Given the description of an element on the screen output the (x, y) to click on. 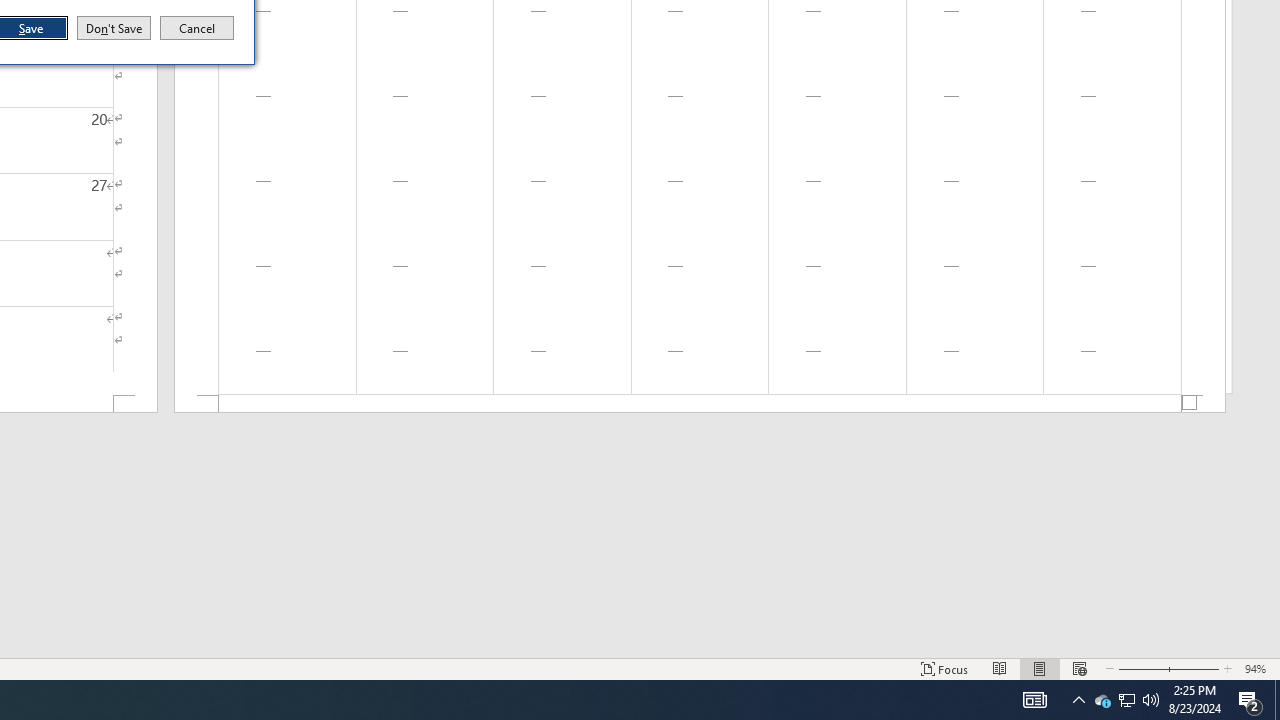
User Promoted Notification Area (1126, 699)
Q2790: 100% (1151, 699)
Action Center, 2 new notifications (1250, 699)
Focus  (944, 668)
Web Layout (1079, 668)
